Given the description of an element on the screen output the (x, y) to click on. 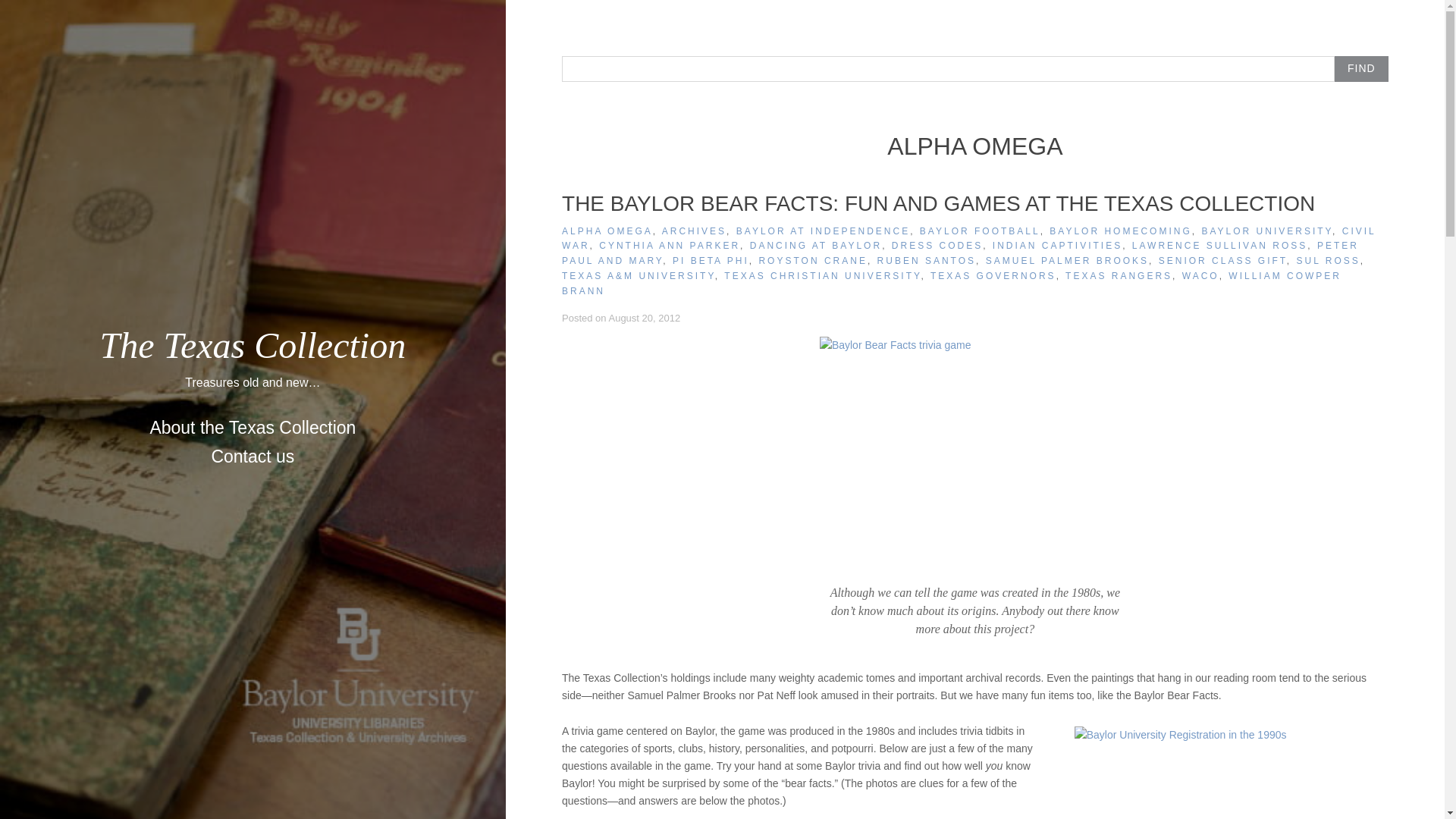
BAYLOR UNIVERSITY (1266, 231)
LAWRENCE SULLIVAN ROSS (1219, 245)
PI BETA PHI (710, 260)
TEXAS GOVERNORS (993, 276)
THE BAYLOR BEAR FACTS: FUN AND GAMES AT THE TEXAS COLLECTION (938, 203)
TEXAS RANGERS (1118, 276)
INDIAN CAPTIVITIES (1057, 245)
WACO (1201, 276)
BAYLOR AT INDEPENDENCE (823, 231)
